Given the description of an element on the screen output the (x, y) to click on. 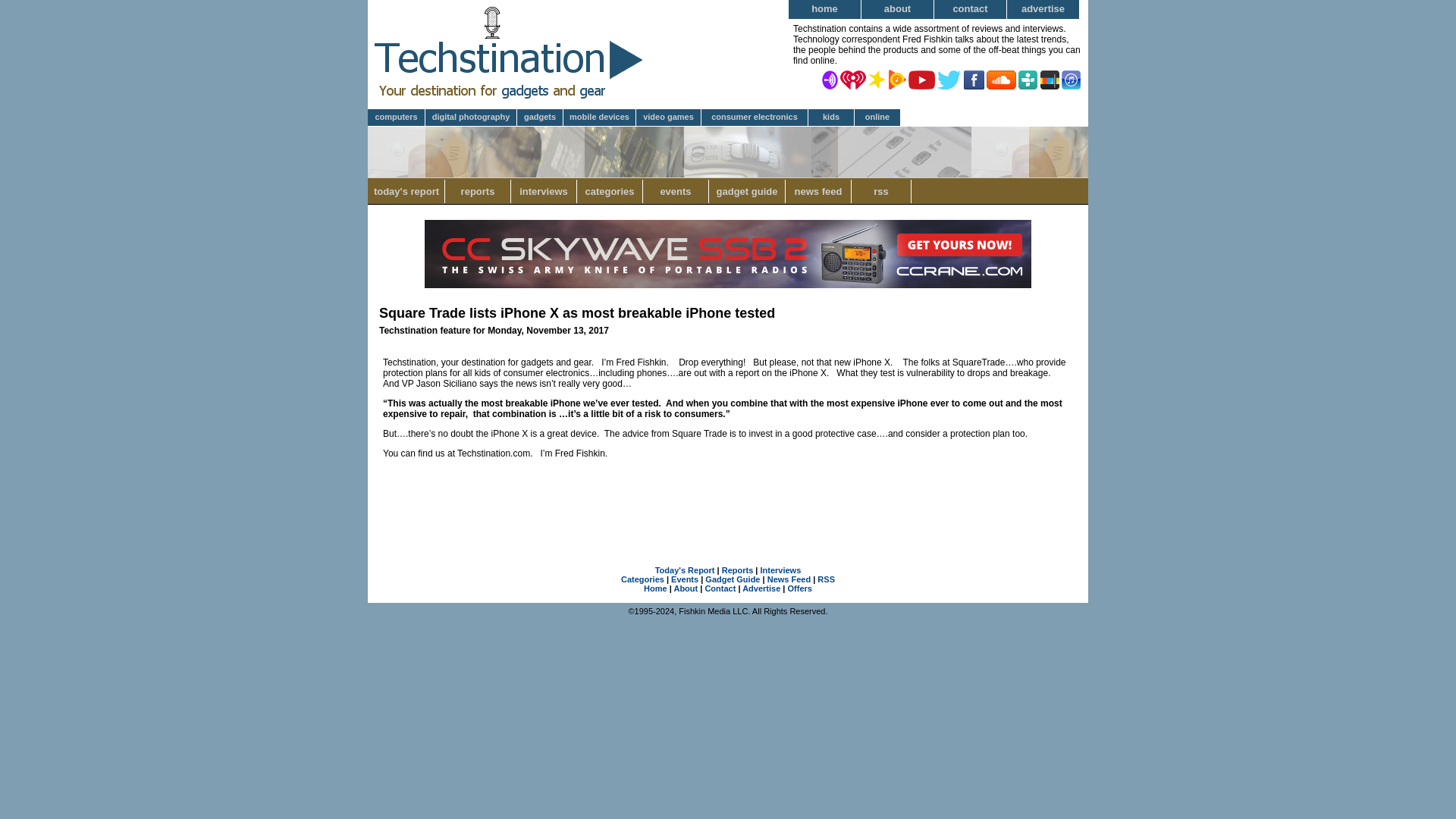
home (825, 9)
Visit Techstination on Stitcher (1050, 78)
gadgets (539, 117)
categories (609, 191)
reports (478, 191)
mobile devices (599, 117)
Follow Techstination on Twitter (948, 78)
Listen to Techstination on Anchor.fm (830, 78)
kids (831, 117)
Follow Techstination on Facebook (973, 78)
interviews (543, 191)
Listen to Techstination on iHeartRadio (853, 78)
computers (396, 117)
online (877, 117)
Listen to Techstination on Spreaker (876, 78)
